Given the description of an element on the screen output the (x, y) to click on. 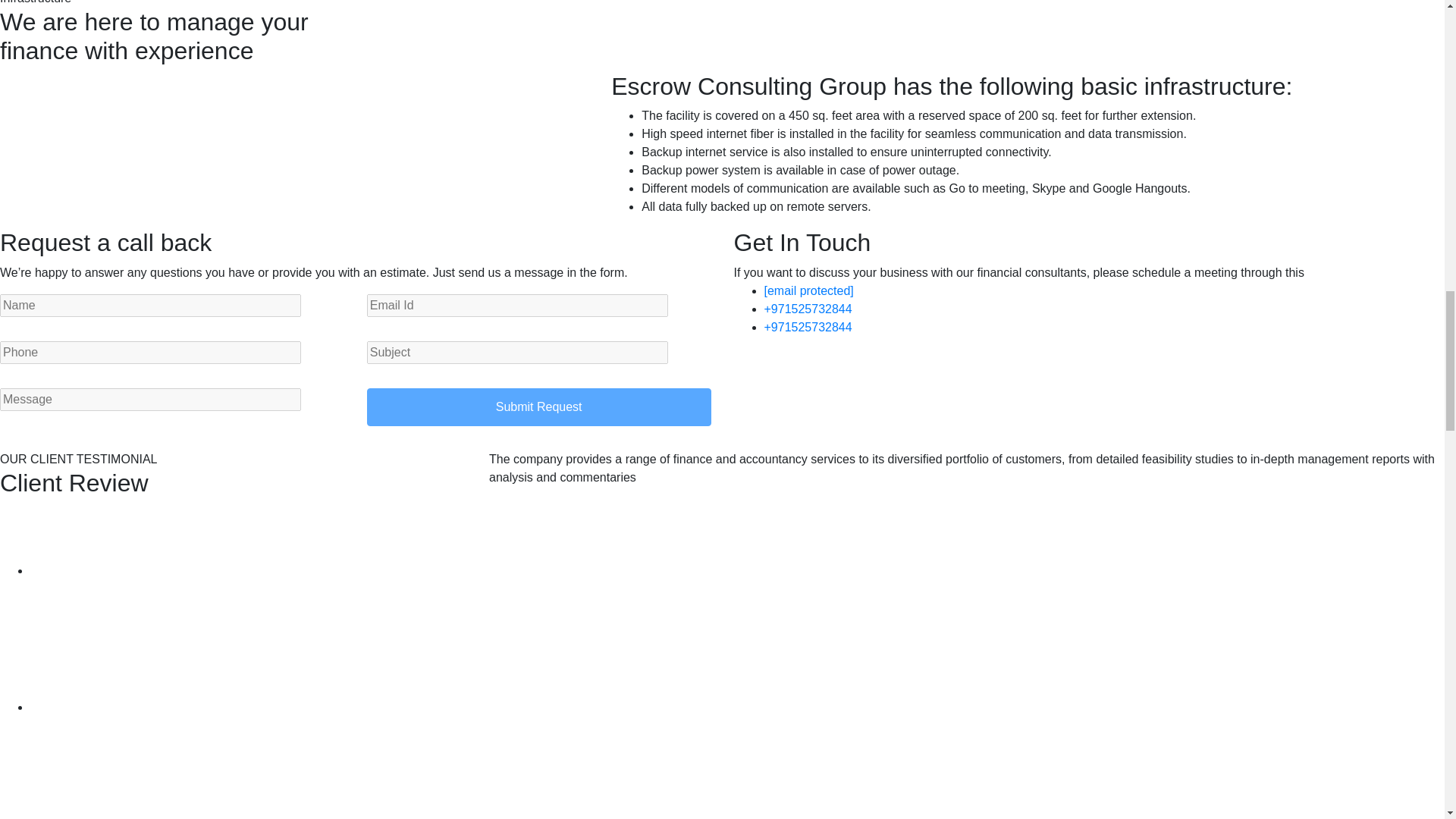
Submit Request (538, 406)
